Given the description of an element on the screen output the (x, y) to click on. 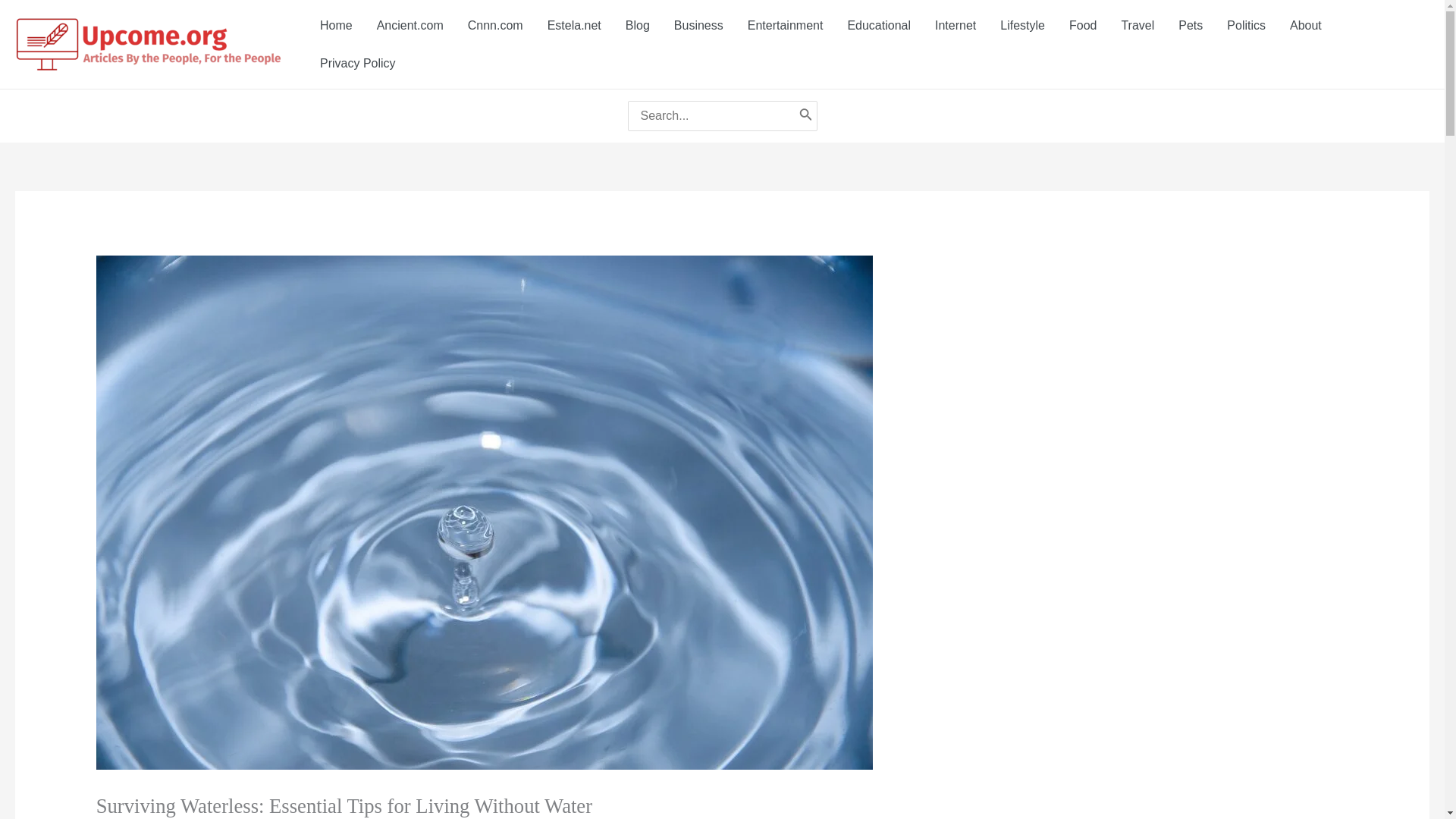
Pets (1190, 24)
Internet (955, 24)
Food (1082, 24)
Entertainment (785, 24)
Privacy Policy (357, 62)
Lifestyle (1022, 24)
About (1305, 24)
Blog (637, 24)
Educational (878, 24)
Estela.net (573, 24)
Home (336, 24)
Business (698, 24)
Ancient.com (410, 24)
Politics (1246, 24)
Travel (1137, 24)
